Given the description of an element on the screen output the (x, y) to click on. 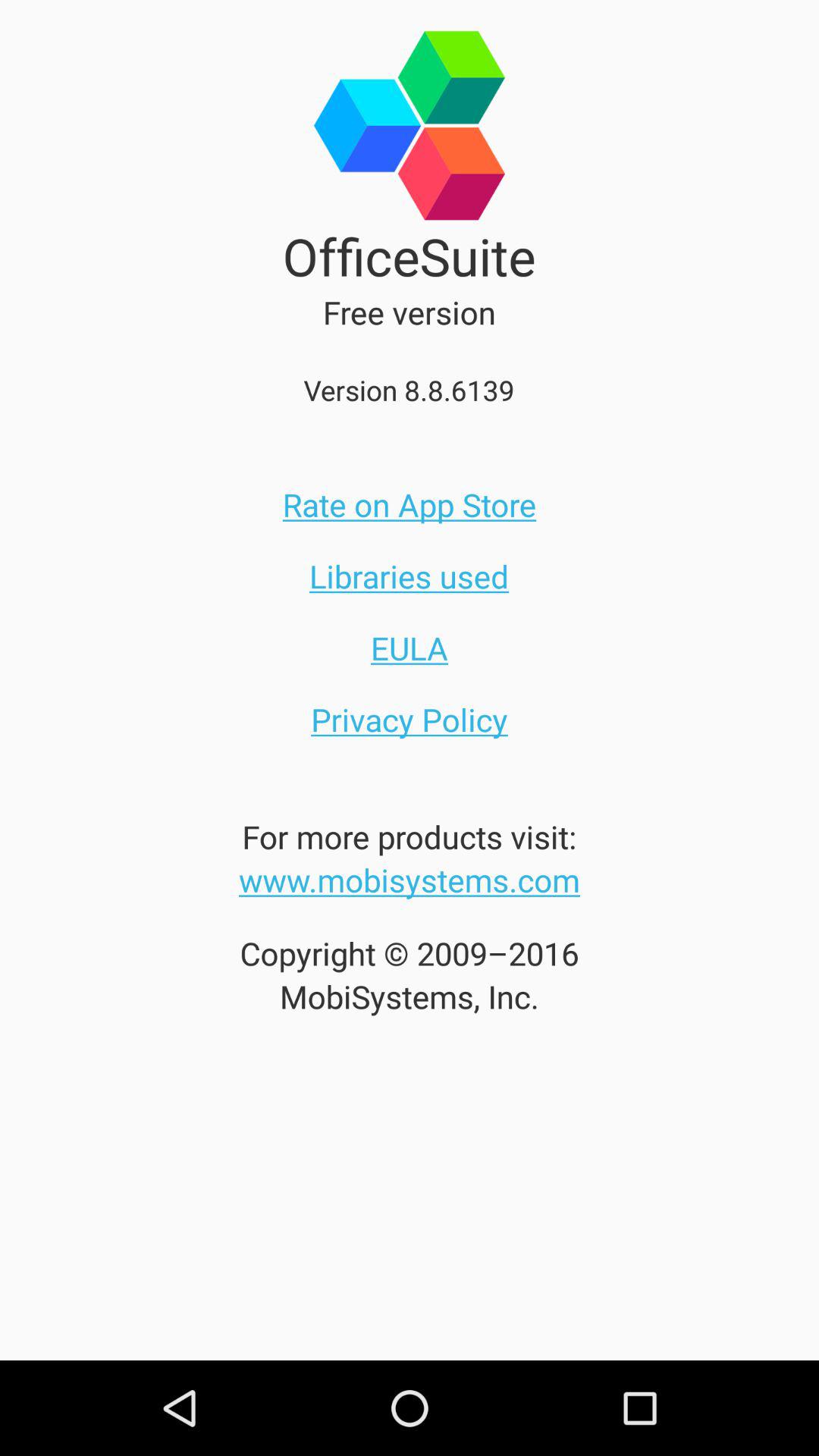
press rate on app item (409, 504)
